Given the description of an element on the screen output the (x, y) to click on. 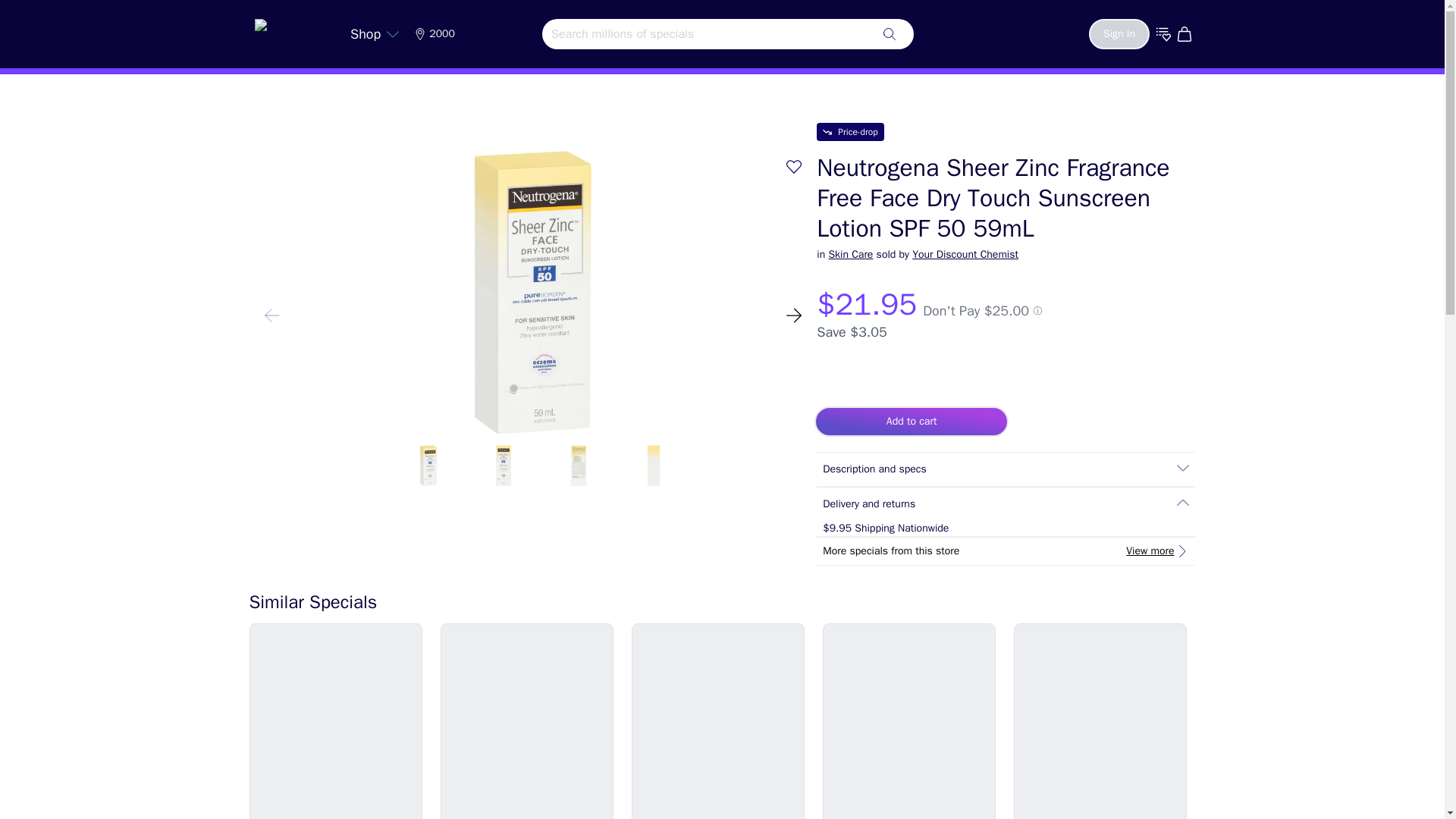
lasoo (291, 30)
Go to cart (1185, 33)
Shop (374, 33)
Go to wishlist (1163, 33)
